Given the description of an element on the screen output the (x, y) to click on. 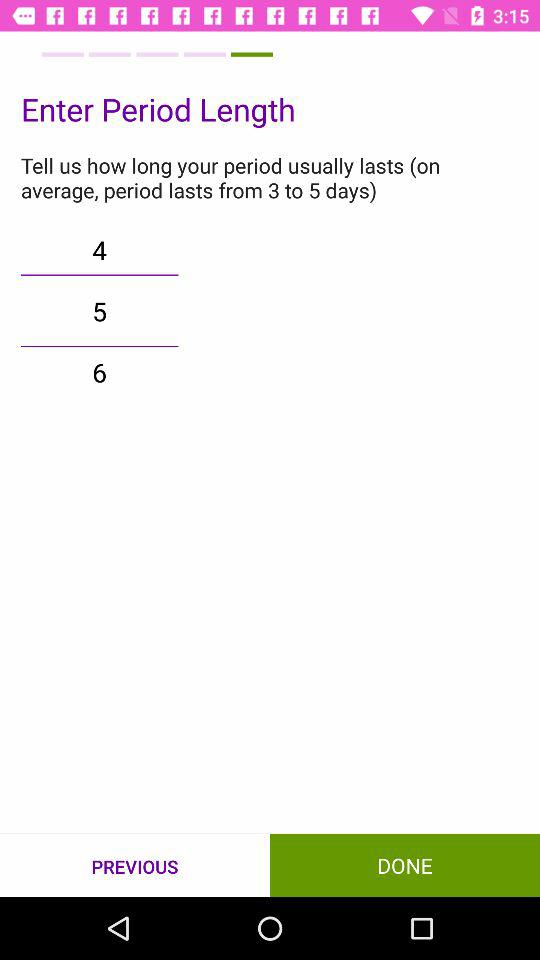
swipe until the done icon (405, 864)
